Given the description of an element on the screen output the (x, y) to click on. 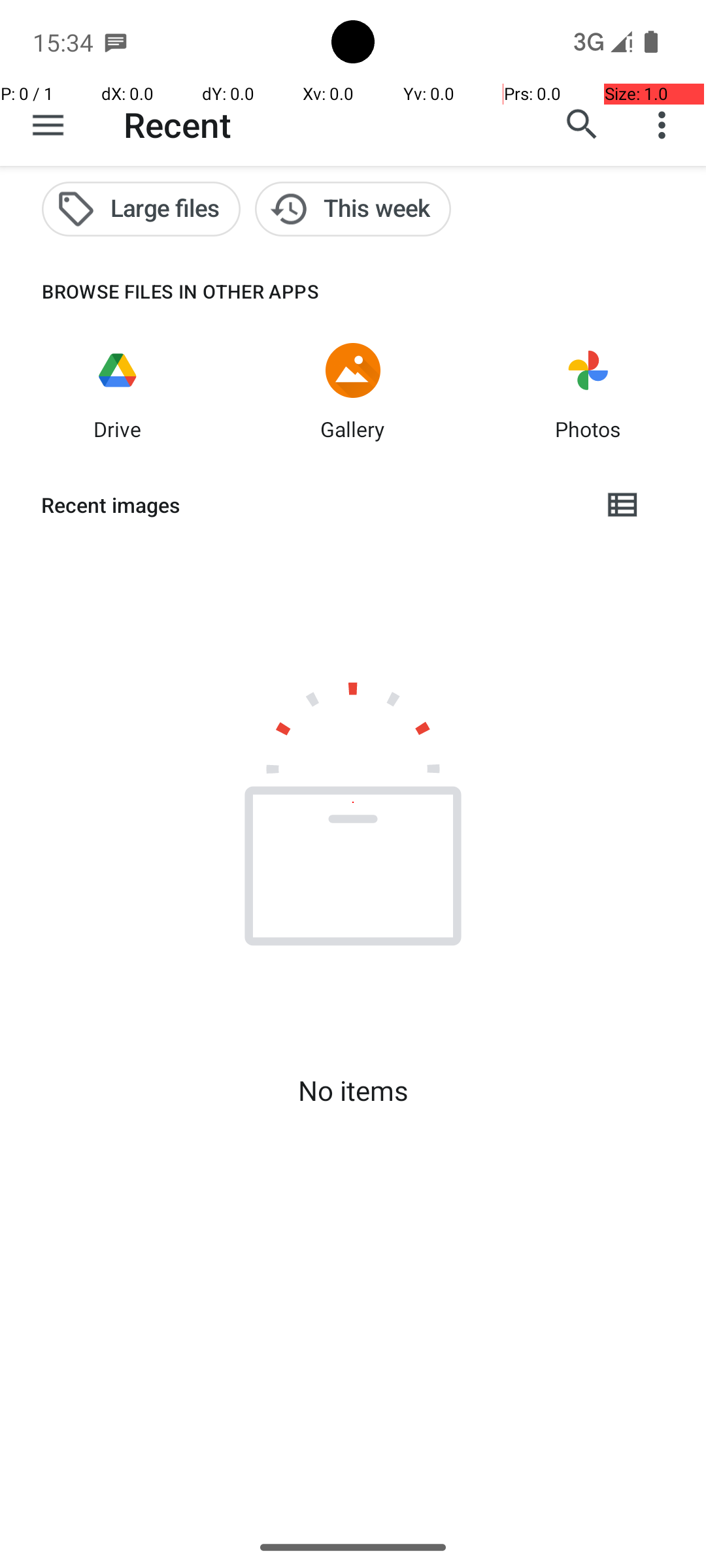
BROWSE FILES IN OTHER APPS Element type: android.widget.TextView (159, 291)
Recent images Element type: android.widget.TextView (311, 504)
Drive Element type: android.widget.TextView (117, 428)
Gallery Element type: android.widget.TextView (352, 428)
